Given the description of an element on the screen output the (x, y) to click on. 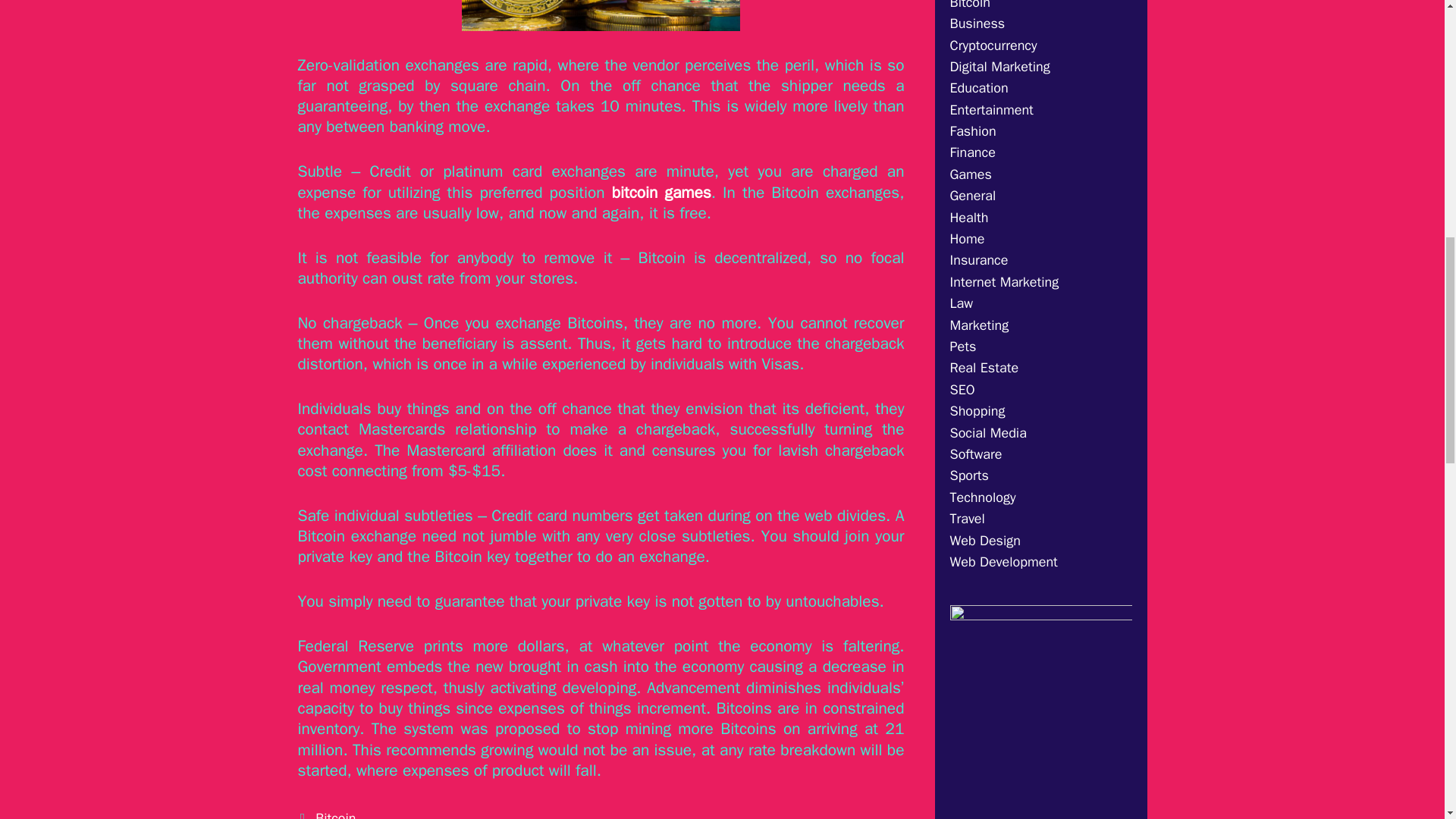
General (972, 195)
bitcoin games (661, 192)
Education (978, 87)
Finance (971, 152)
Bitcoin (969, 5)
Internet Marketing (1003, 281)
Home (966, 238)
Cryptocurrency (992, 45)
Games (970, 174)
Fashion (972, 130)
Insurance (978, 259)
Business (976, 23)
Bitcoin (335, 814)
Health (968, 217)
Entertainment (990, 109)
